Given the description of an element on the screen output the (x, y) to click on. 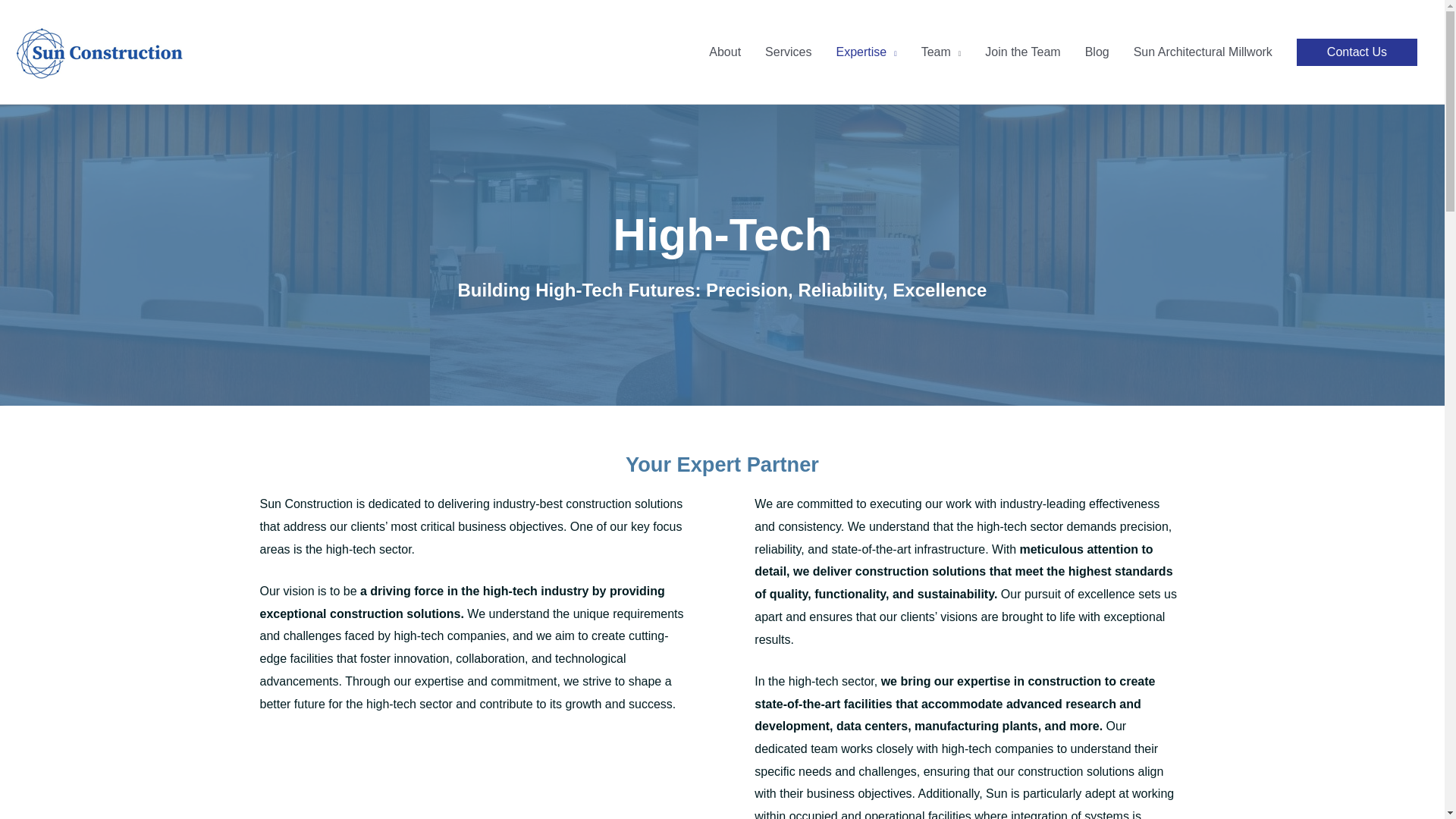
About (724, 51)
Expertise (866, 51)
Blog (1097, 51)
Team (941, 51)
Sun Architectural Millwork (1202, 51)
Contact Us (1356, 51)
Services (788, 51)
Join the Team (1021, 51)
